Given the description of an element on the screen output the (x, y) to click on. 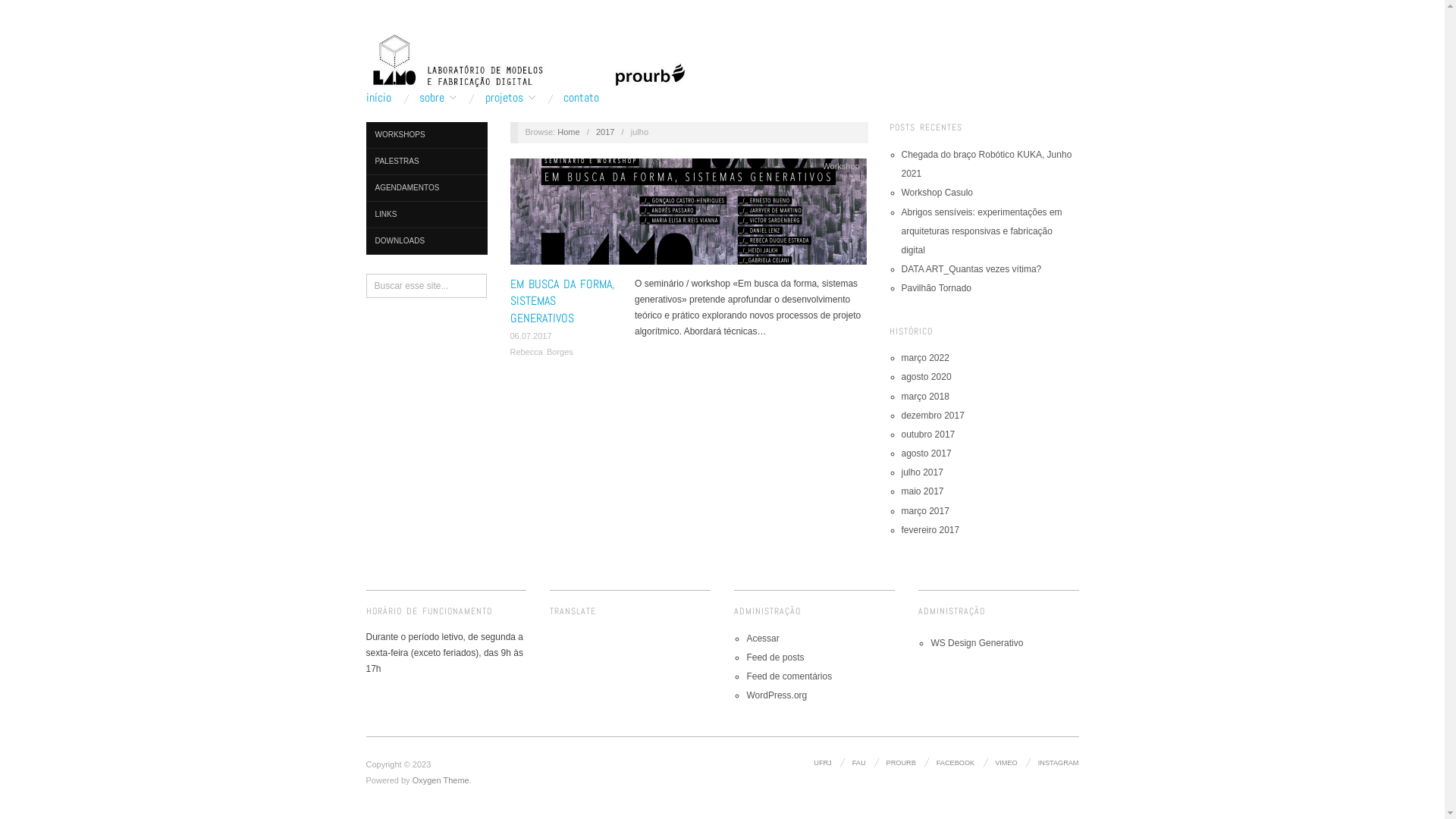
Workshop Casulo Element type: text (936, 192)
UFRJ Element type: text (822, 762)
outubro 2017 Element type: text (927, 434)
FAU Element type: text (859, 762)
FACEBOOK Element type: text (955, 762)
Oxygen Theme Element type: text (440, 779)
Rebecca Borges Element type: text (540, 351)
LINKS Element type: text (425, 214)
2017 Element type: text (605, 131)
AGENDAMENTOS Element type: text (425, 188)
EM BUSCA DA FORMA, SISTEMAS GENERATIVOS Element type: text (561, 301)
WordPress.org Element type: text (776, 695)
VIMEO Element type: text (1005, 762)
EM BUSCA DA FORMA, SISTEMAS GENERATIVOS Element type: hover (687, 216)
PROURB Element type: text (901, 762)
INSTAGRAM Element type: text (1058, 762)
sobre Element type: text (437, 97)
dezembro 2017 Element type: text (931, 415)
Feed de posts Element type: text (774, 657)
Acessar Element type: text (762, 638)
contato Element type: text (581, 97)
projetos Element type: text (510, 97)
Workshop Element type: text (840, 165)
PALESTRAS Element type: text (425, 161)
WS Design Generativo Element type: text (976, 642)
DOWNLOADS Element type: text (425, 241)
06.07.2017 Element type: text (530, 335)
Home Element type: text (568, 131)
fevereiro 2017 Element type: text (929, 529)
maio 2017 Element type: text (921, 491)
WORKSHOPS Element type: text (425, 135)
Buscar Element type: text (24, 10)
agosto 2017 Element type: text (925, 453)
julho 2017 Element type: text (921, 472)
agosto 2020 Element type: text (925, 376)
